Given the description of an element on the screen output the (x, y) to click on. 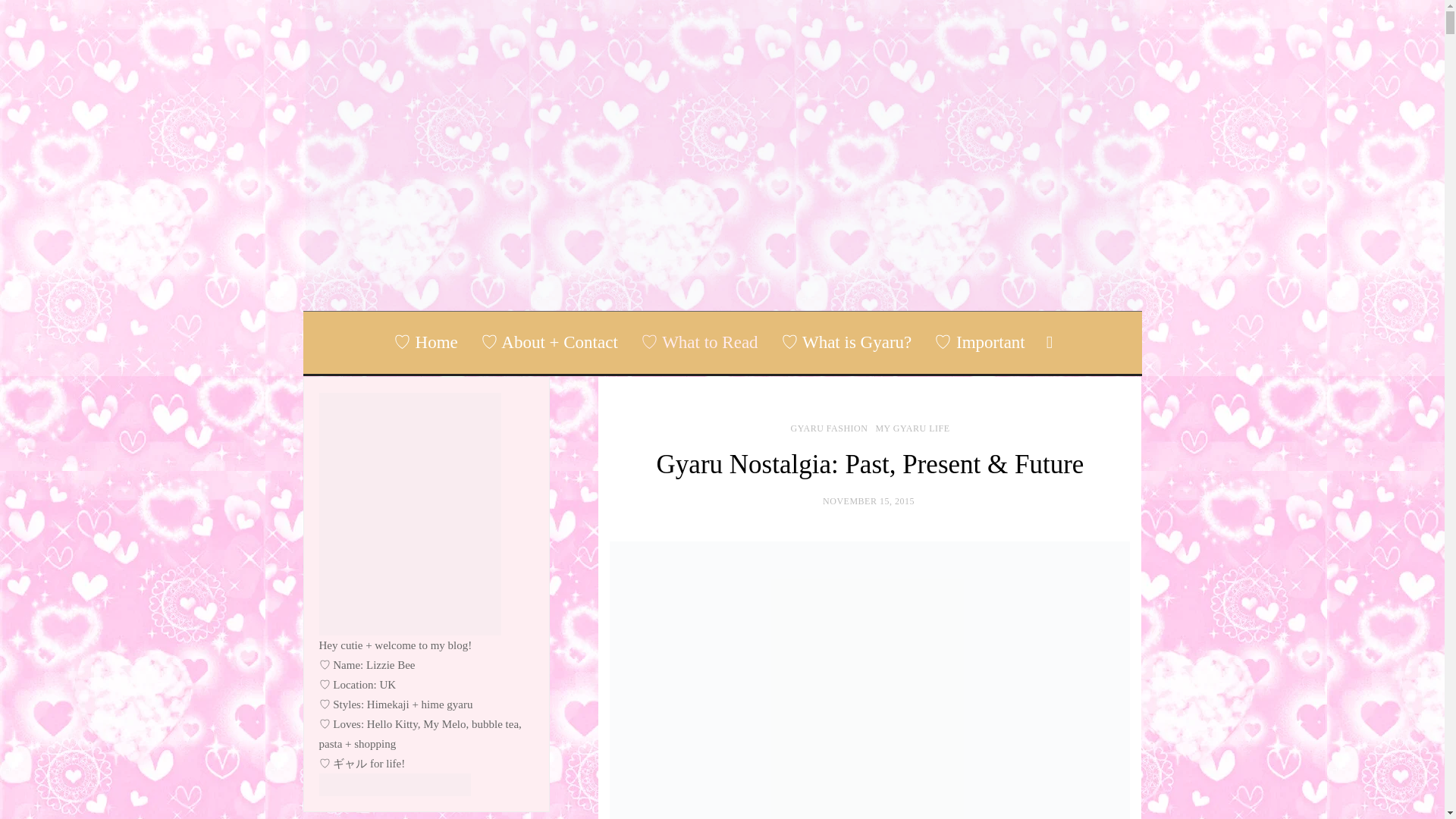
GYARU FASHION (828, 427)
NOVEMBER 15, 2015 (868, 501)
MY GYARU LIFE (912, 427)
